Given the description of an element on the screen output the (x, y) to click on. 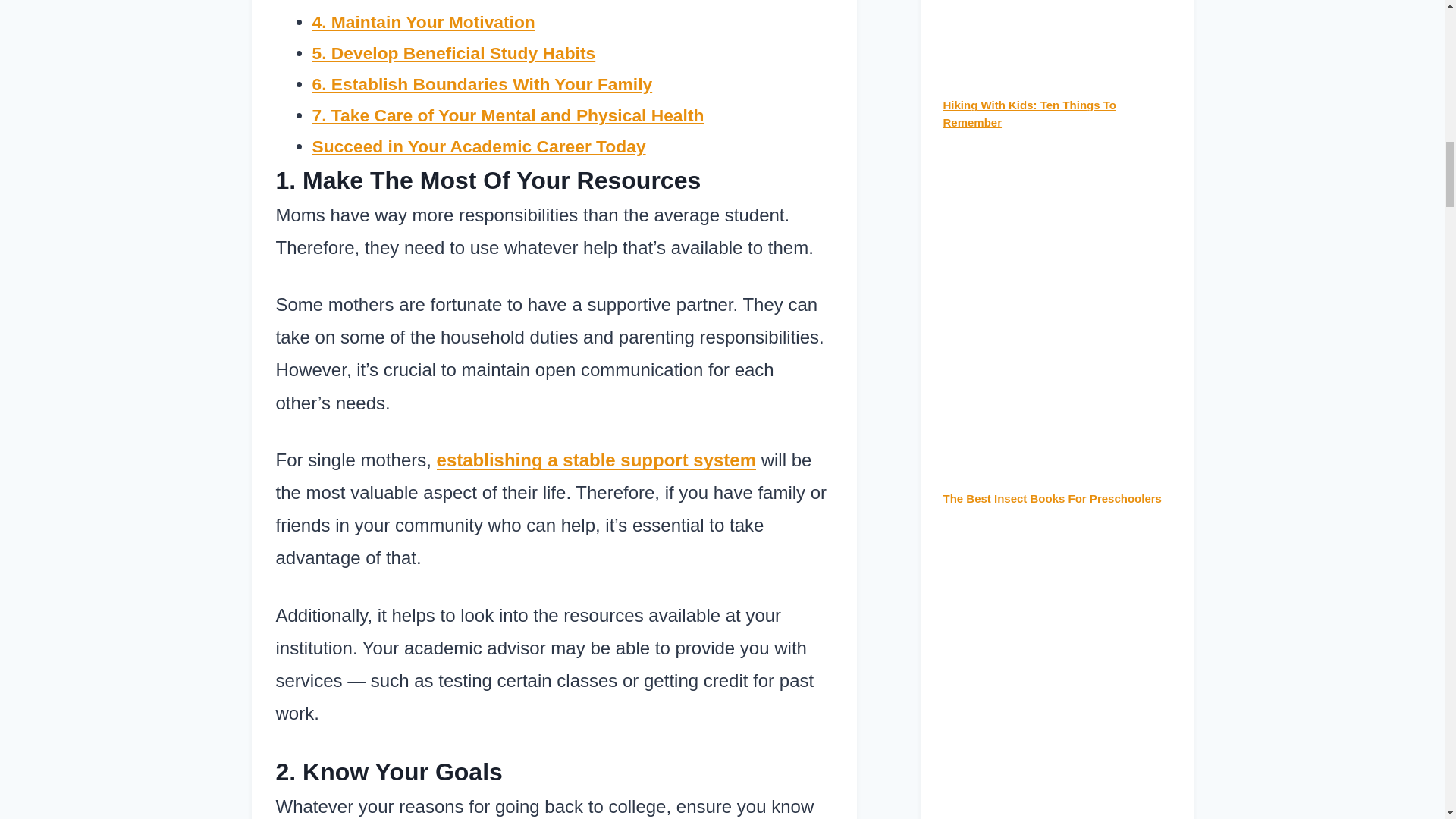
4. Maintain Your Motivation (424, 21)
Succeed in Your Academic Career Today (479, 146)
7. Take Care of Your Mental and Physical Health (508, 115)
5. Develop Beneficial Study Habits (454, 53)
6. Establish Boundaries With Your Family (482, 84)
